Given the description of an element on the screen output the (x, y) to click on. 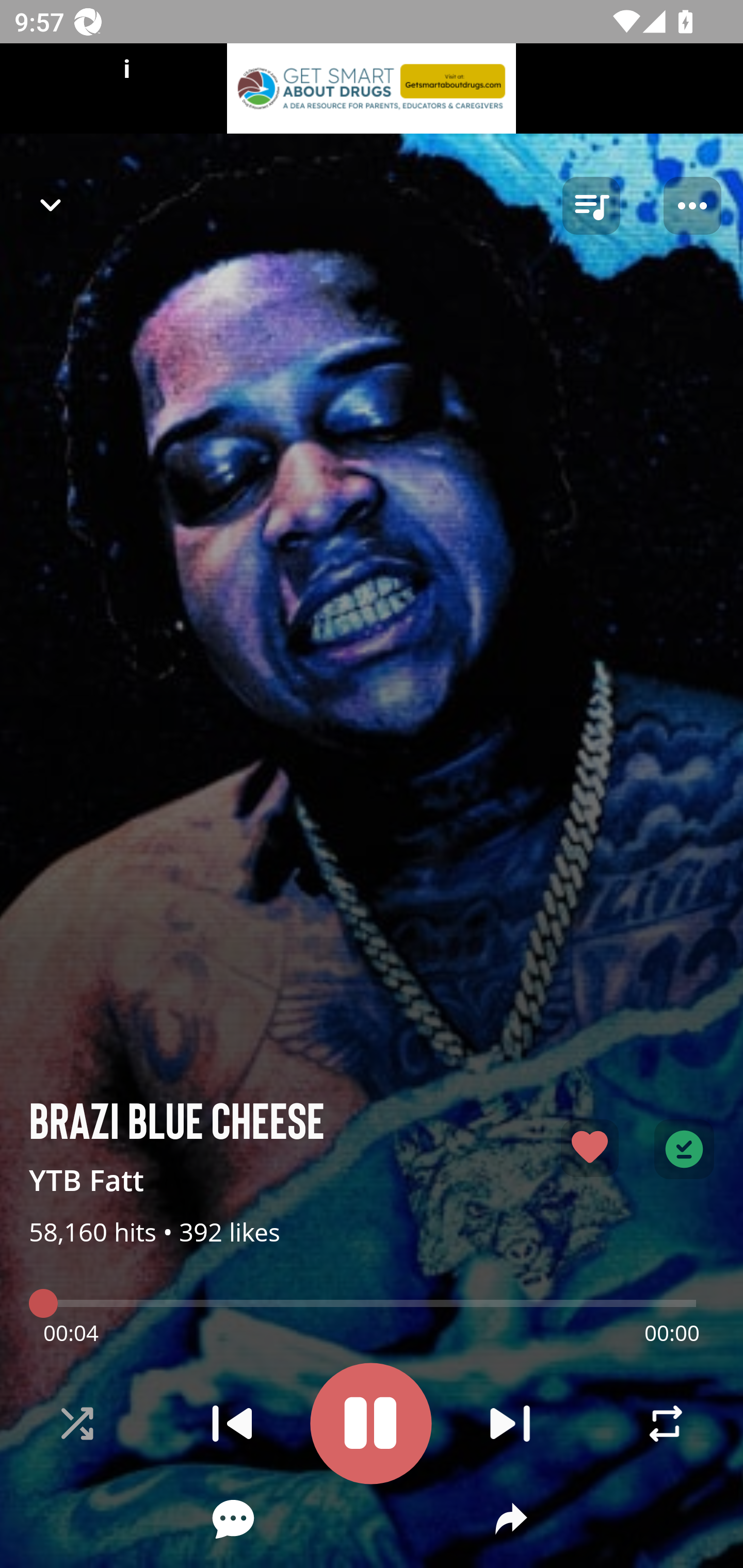
Navigate up (50, 205)
queue (590, 206)
Player options (692, 206)
